Given the description of an element on the screen output the (x, y) to click on. 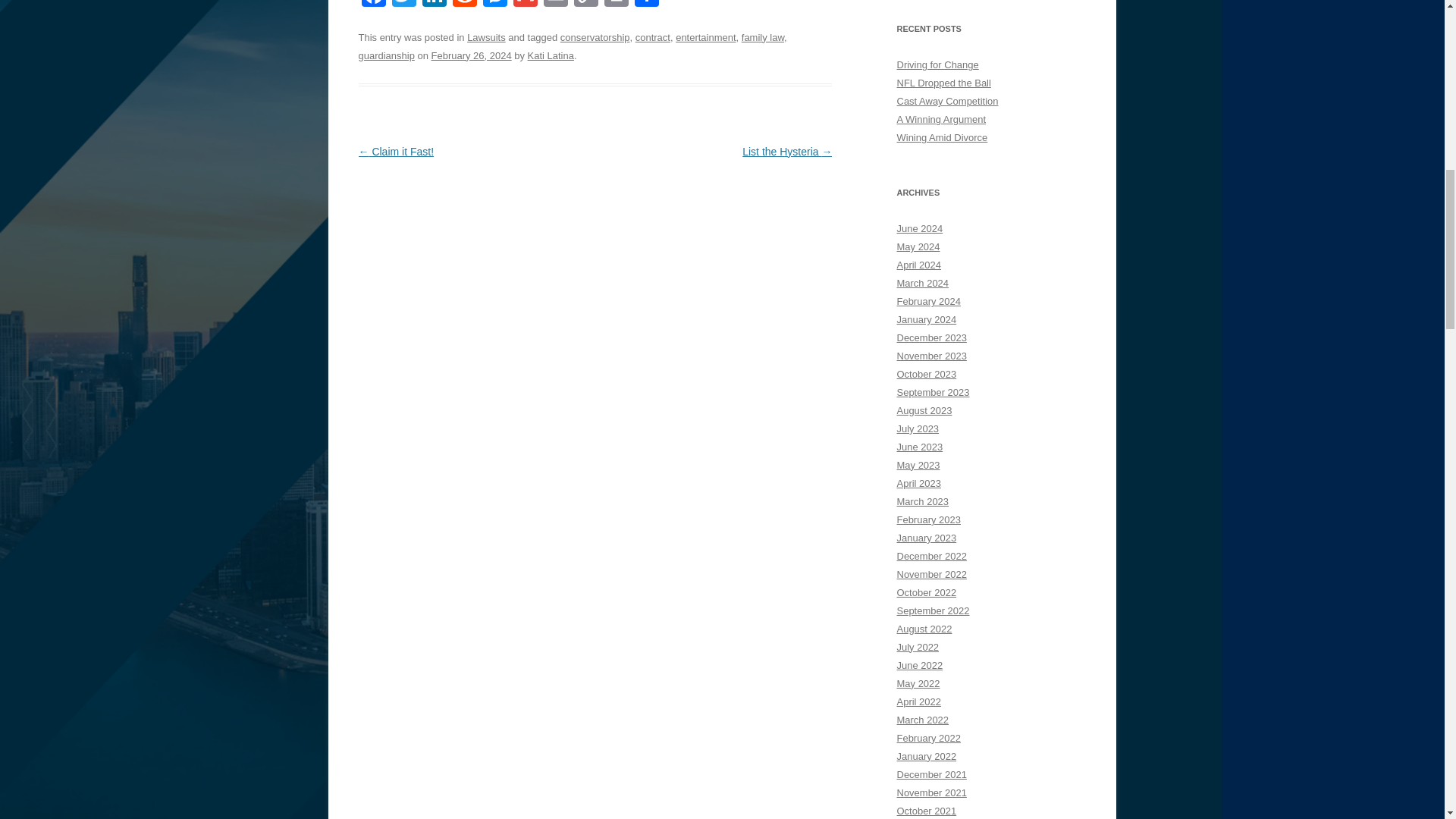
Twitter (403, 5)
conservatorship (595, 37)
Print (614, 5)
Reddit (463, 5)
Cast Away Competition (946, 101)
View all posts by Kati Latina (550, 55)
8:16 am (471, 55)
Gmail (524, 5)
LinkedIn (433, 5)
Copy Link (584, 5)
NFL Dropped the Ball (943, 82)
family law (762, 37)
Reddit (463, 5)
Email (555, 5)
LinkedIn (433, 5)
